Given the description of an element on the screen output the (x, y) to click on. 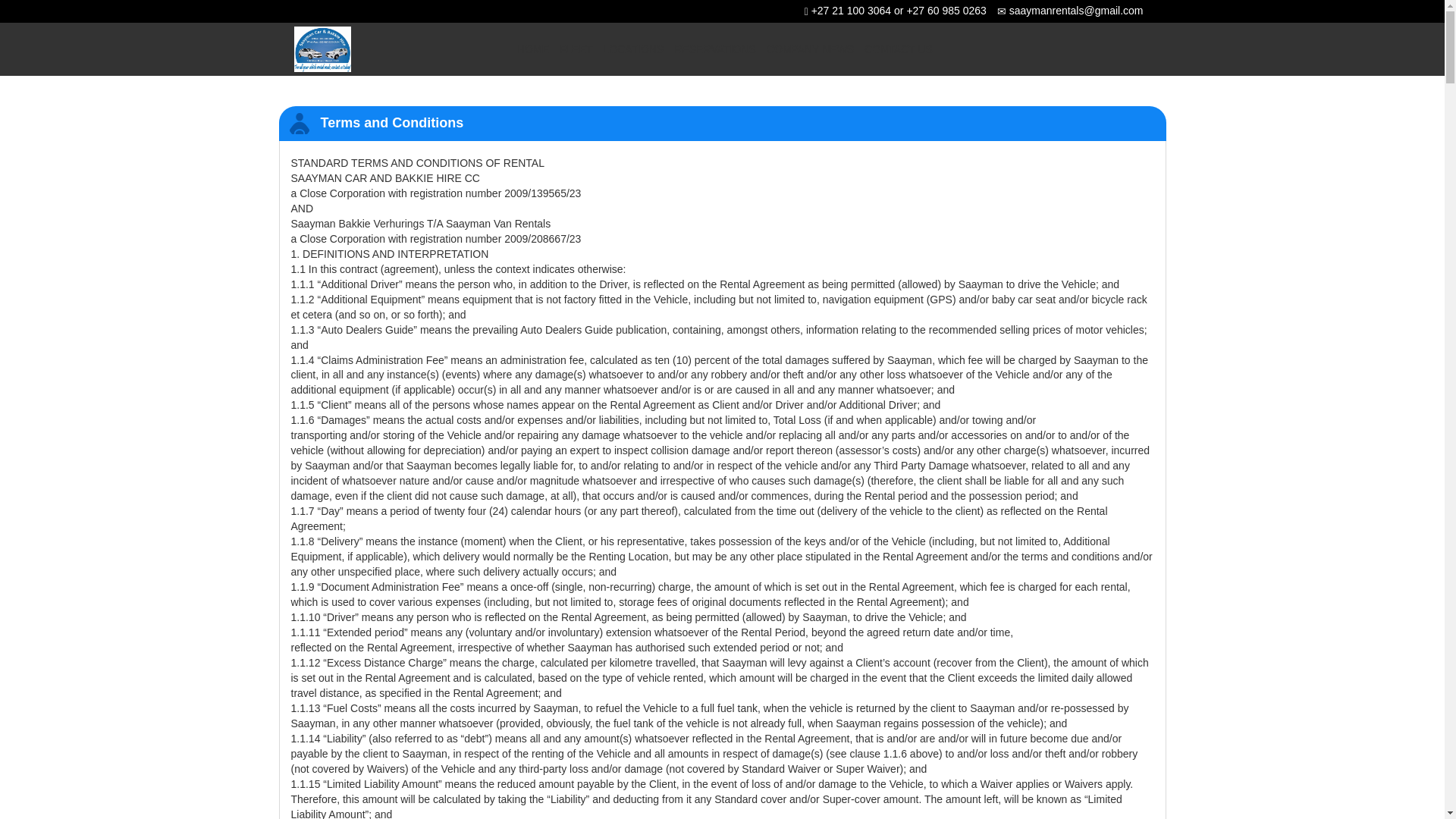
LOCATIONS (633, 49)
RESERVATIONS (714, 49)
CONTACT US (898, 49)
COMPANY NEWS (810, 49)
